Given the description of an element on the screen output the (x, y) to click on. 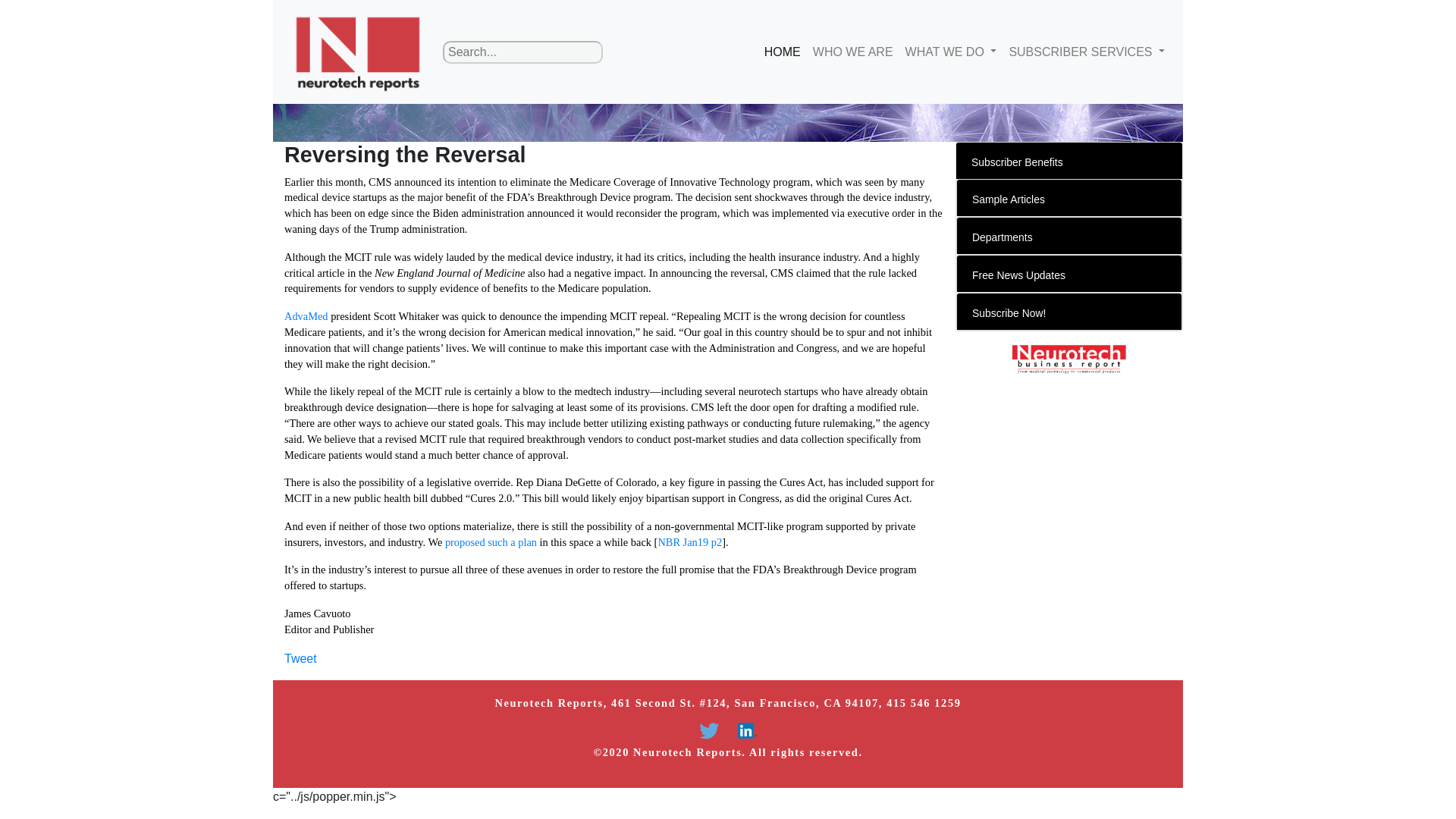
WHAT WE DO (951, 51)
Sample Articles (1008, 199)
NBR Jan19 p2 (690, 541)
WHO WE ARE (852, 51)
Subscriber Benefits (1016, 162)
proposed such a plan (491, 541)
Tweet (300, 658)
SUBSCRIBER SERVICES (1086, 51)
AdvaMed (306, 316)
Free News Updates (1018, 275)
Subscribe Now! (1008, 313)
Departments (1002, 236)
